Given the description of an element on the screen output the (x, y) to click on. 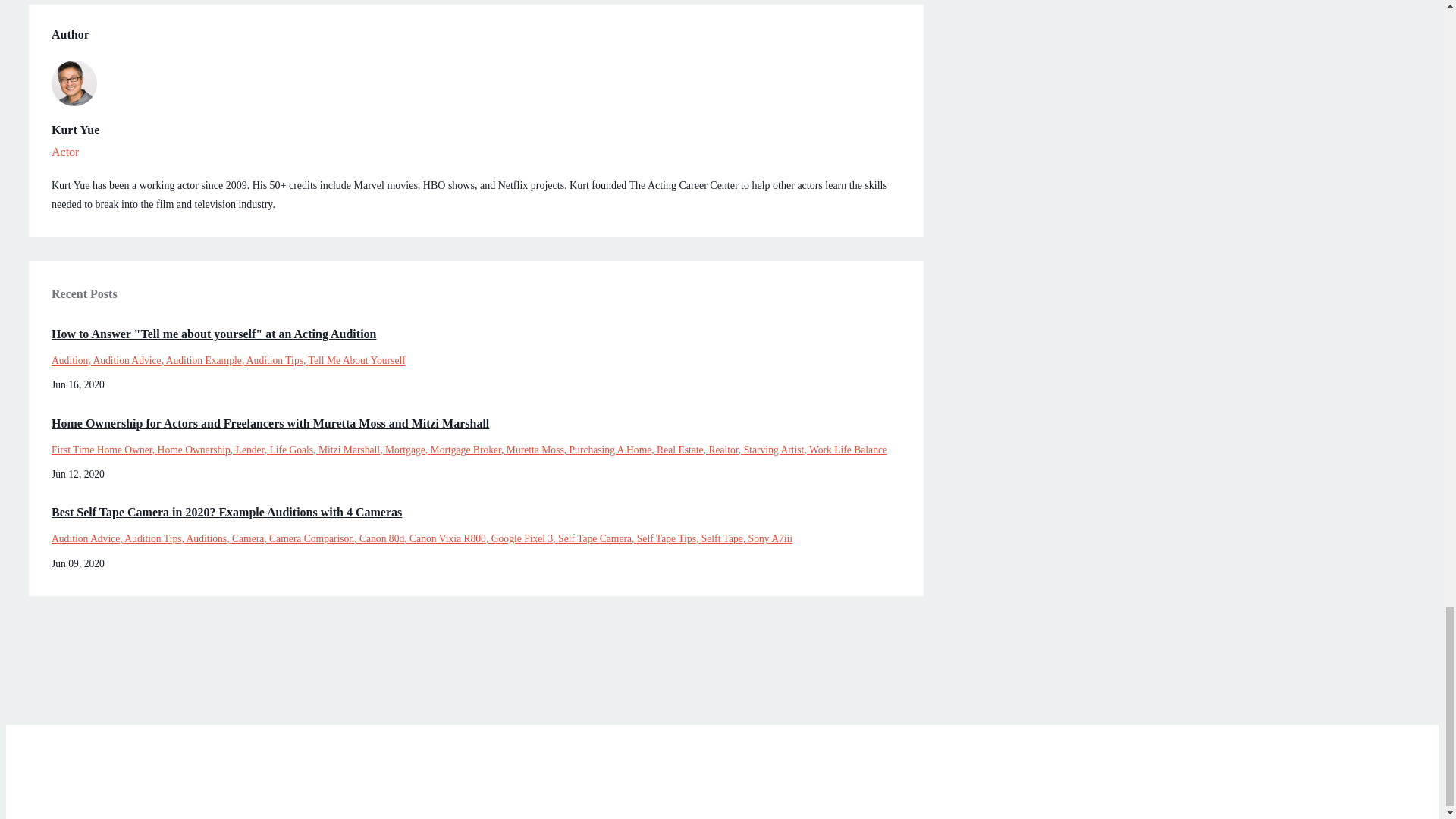
Audition Example (205, 360)
First Time Home Owner (103, 449)
Audition Tips (277, 360)
How to Answer "Tell me about yourself" at an Acting Audition (475, 334)
Audition (71, 360)
Tell Me About Yourself (357, 360)
Mortgage (407, 449)
Muretta Moss (537, 449)
Mitzi Marshall (351, 449)
Mortgage Broker (468, 449)
Life Goals (293, 449)
Audition Advice (129, 360)
Lender (252, 449)
Purchasing A Home (613, 449)
